Given the description of an element on the screen output the (x, y) to click on. 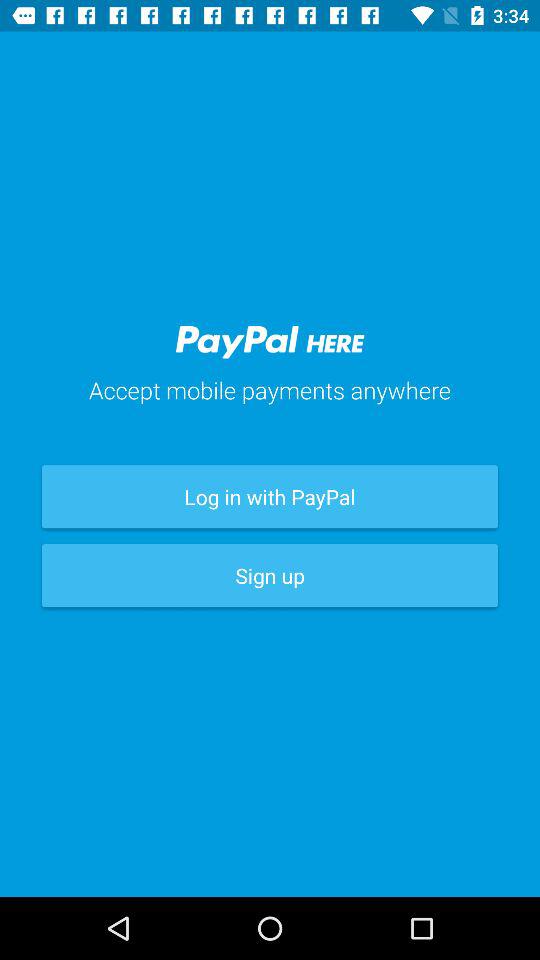
launch the icon below log in with item (269, 575)
